Given the description of an element on the screen output the (x, y) to click on. 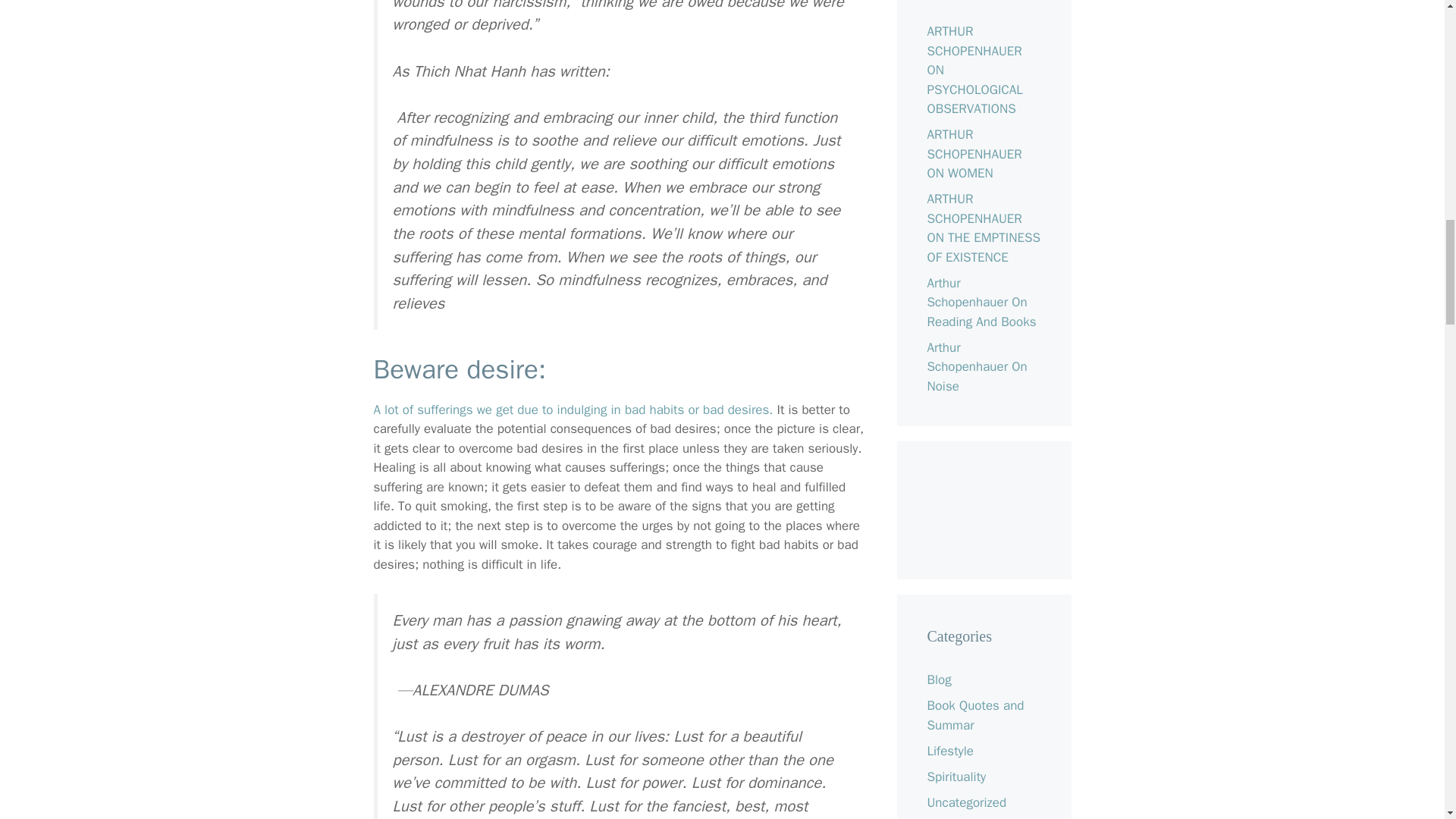
Book Quotes and Summar (974, 715)
Uncategorized (966, 802)
ARTHUR SCHOPENHAUER ON THE EMPTINESS OF EXISTENCE (982, 227)
Blog (938, 679)
ARTHUR SCHOPENHAUER ON WOMEN (974, 153)
ARTHUR SCHOPENHAUER ON PSYCHOLOGICAL OBSERVATIONS (974, 70)
Arthur Schopenhauer On Reading And Books (980, 302)
Spirituality (955, 776)
Arthur Schopenhauer On Noise (976, 366)
